Given the description of an element on the screen output the (x, y) to click on. 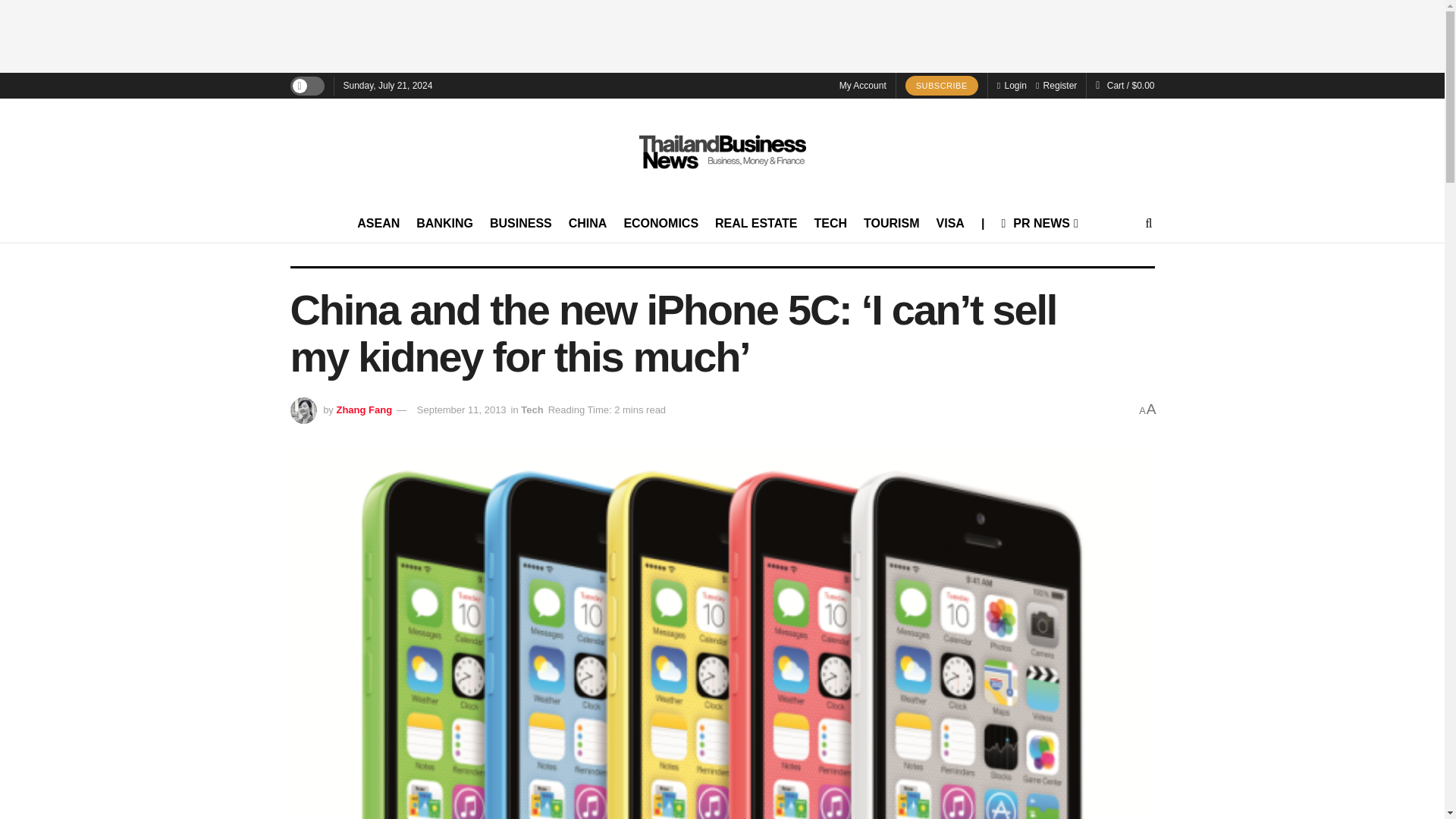
Register (1056, 85)
TECH (830, 223)
View your shopping cart (1130, 85)
My Account (863, 85)
Login (1011, 85)
REAL ESTATE (755, 223)
CHINA (588, 223)
BANKING (444, 223)
SUBSCRIBE (941, 85)
ECONOMICS (660, 223)
ASEAN (377, 223)
PR NEWS (1038, 223)
BUSINESS (520, 223)
VISA (949, 223)
TOURISM (890, 223)
